Given the description of an element on the screen output the (x, y) to click on. 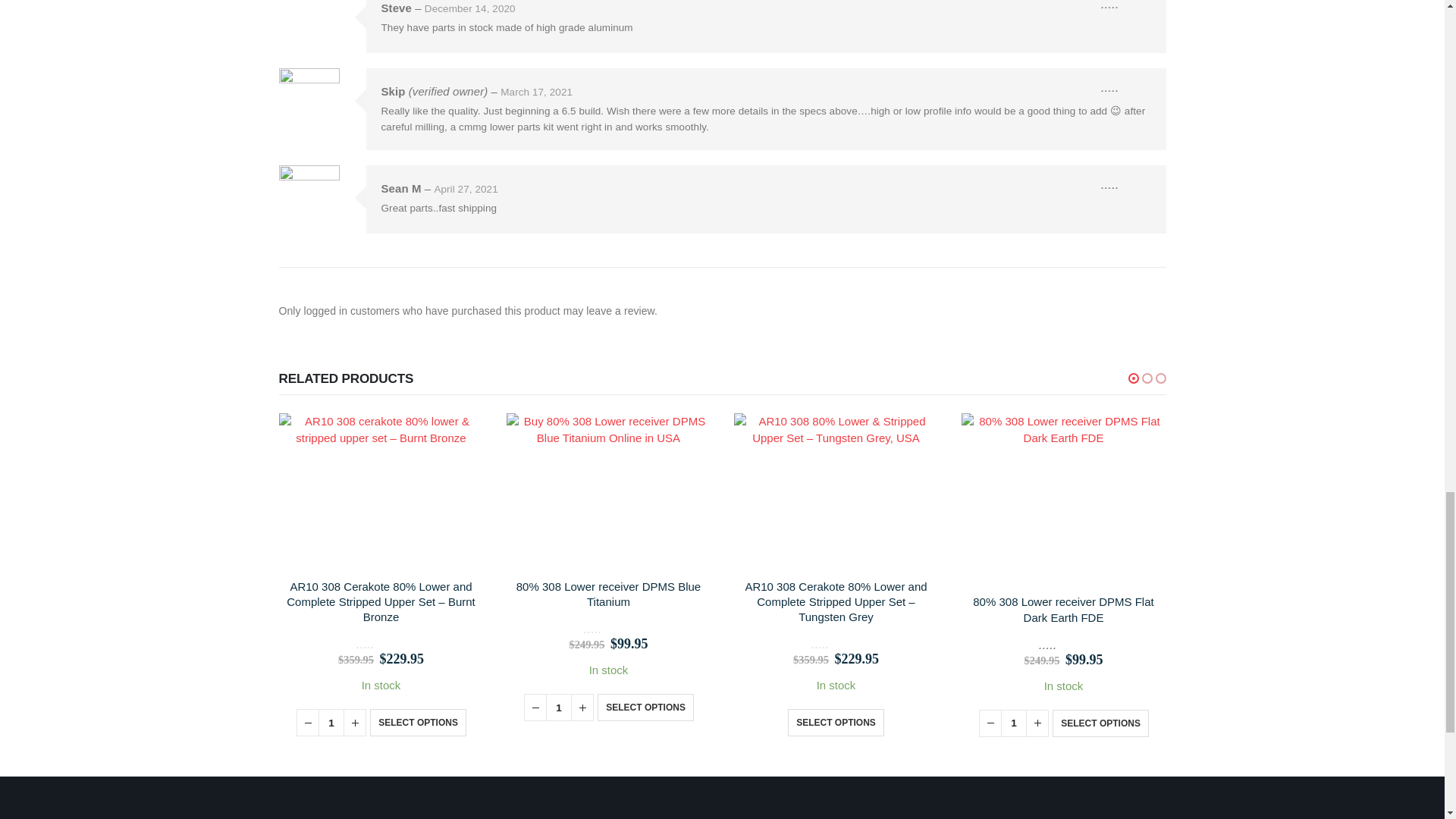
1 (330, 722)
1 (1013, 723)
1 (559, 707)
